Given the description of an element on the screen output the (x, y) to click on. 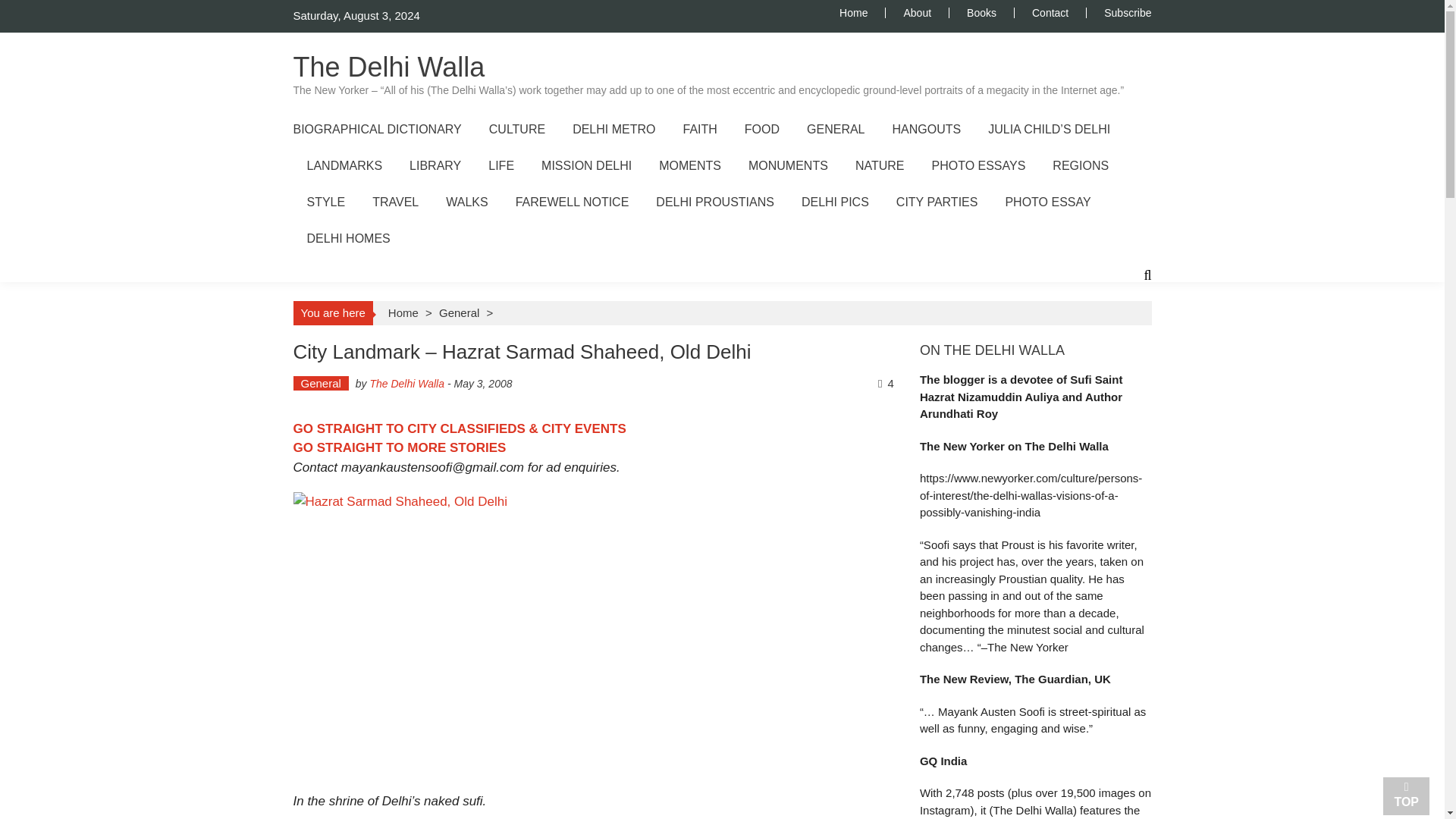
DELHI PICS (835, 201)
DELHI PROUSTIANS (715, 201)
HANGOUTS (926, 128)
PHOTO ESSAY (1047, 201)
REGIONS (1080, 164)
Books (981, 12)
About (917, 12)
NATURE (880, 164)
BIOGRAPHICAL DICTIONARY (376, 128)
Subscribe (1118, 12)
MONUMENTS (788, 164)
GENERAL (835, 128)
STYLE (325, 201)
TRAVEL (395, 201)
Home (862, 12)
